Given the description of an element on the screen output the (x, y) to click on. 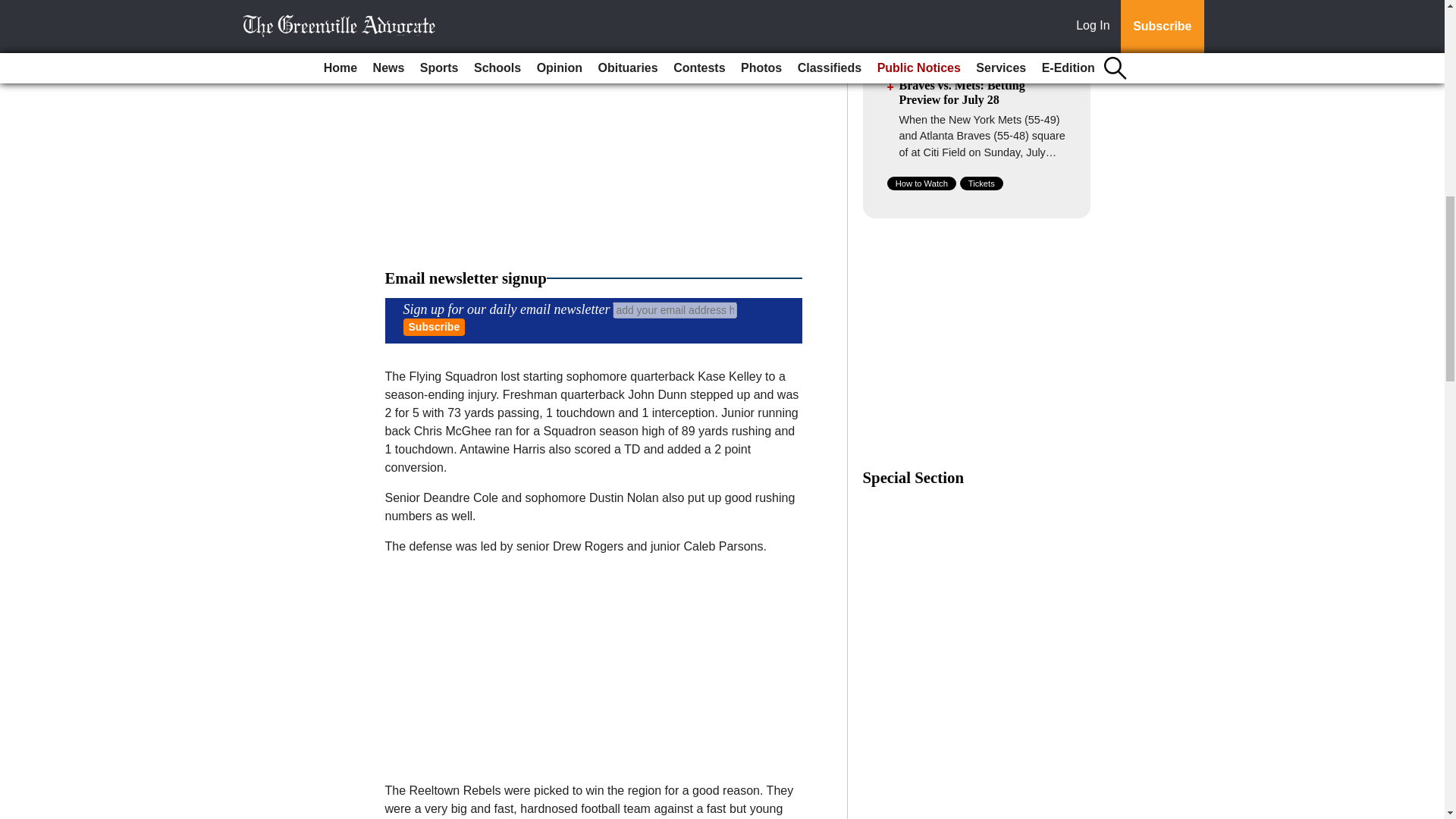
Braves vs. Mets: Betting Preview for July 28 (962, 92)
Subscribe (434, 326)
Subscribe (434, 326)
